Given the description of an element on the screen output the (x, y) to click on. 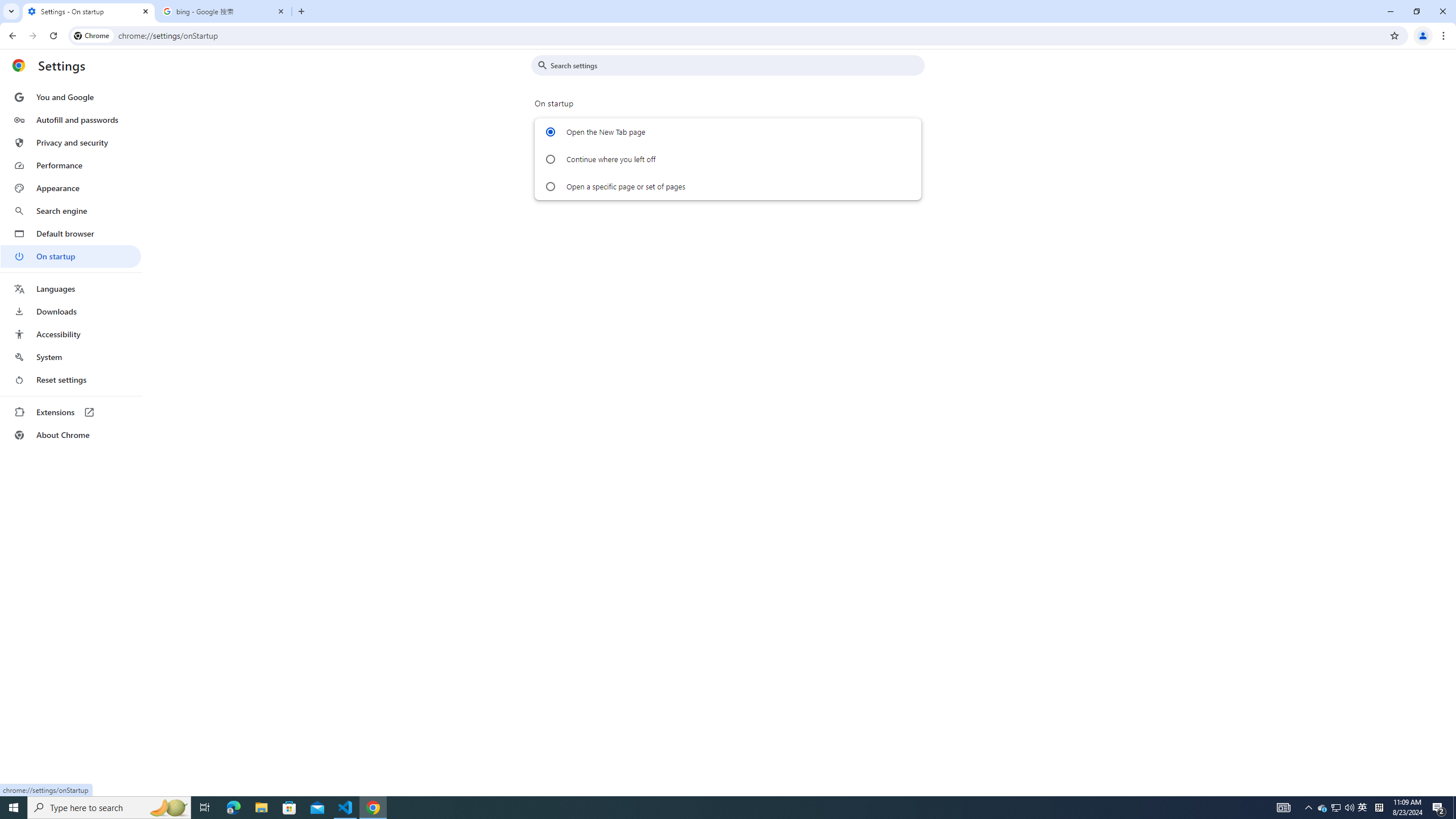
Languages (70, 288)
Search engine (70, 210)
Search settings (735, 65)
Reset settings (70, 379)
On startup (70, 255)
Default browser (70, 233)
Appearance (70, 187)
Accessibility (70, 333)
